Given the description of an element on the screen output the (x, y) to click on. 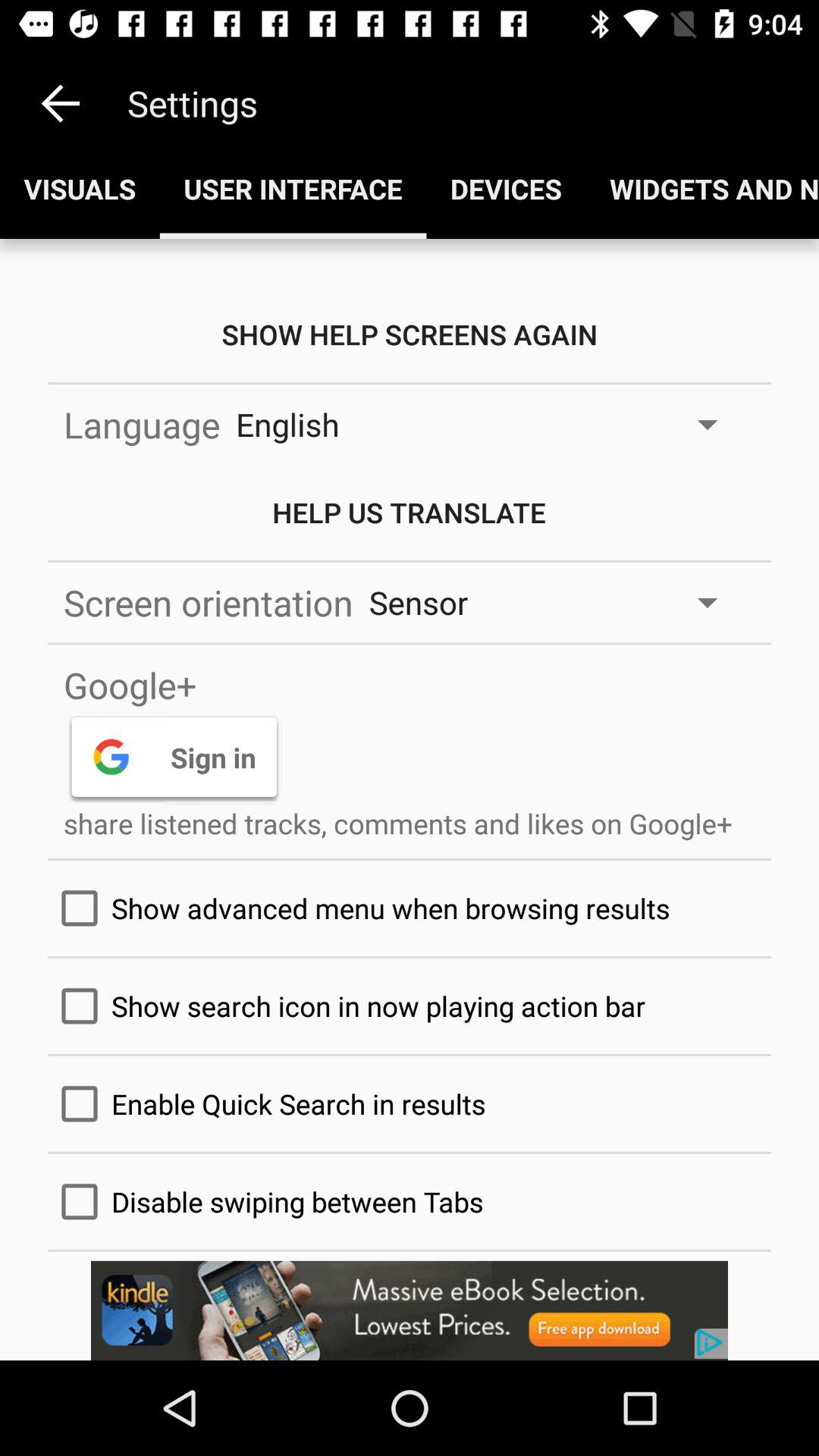
advertisement (409, 1310)
